Given the description of an element on the screen output the (x, y) to click on. 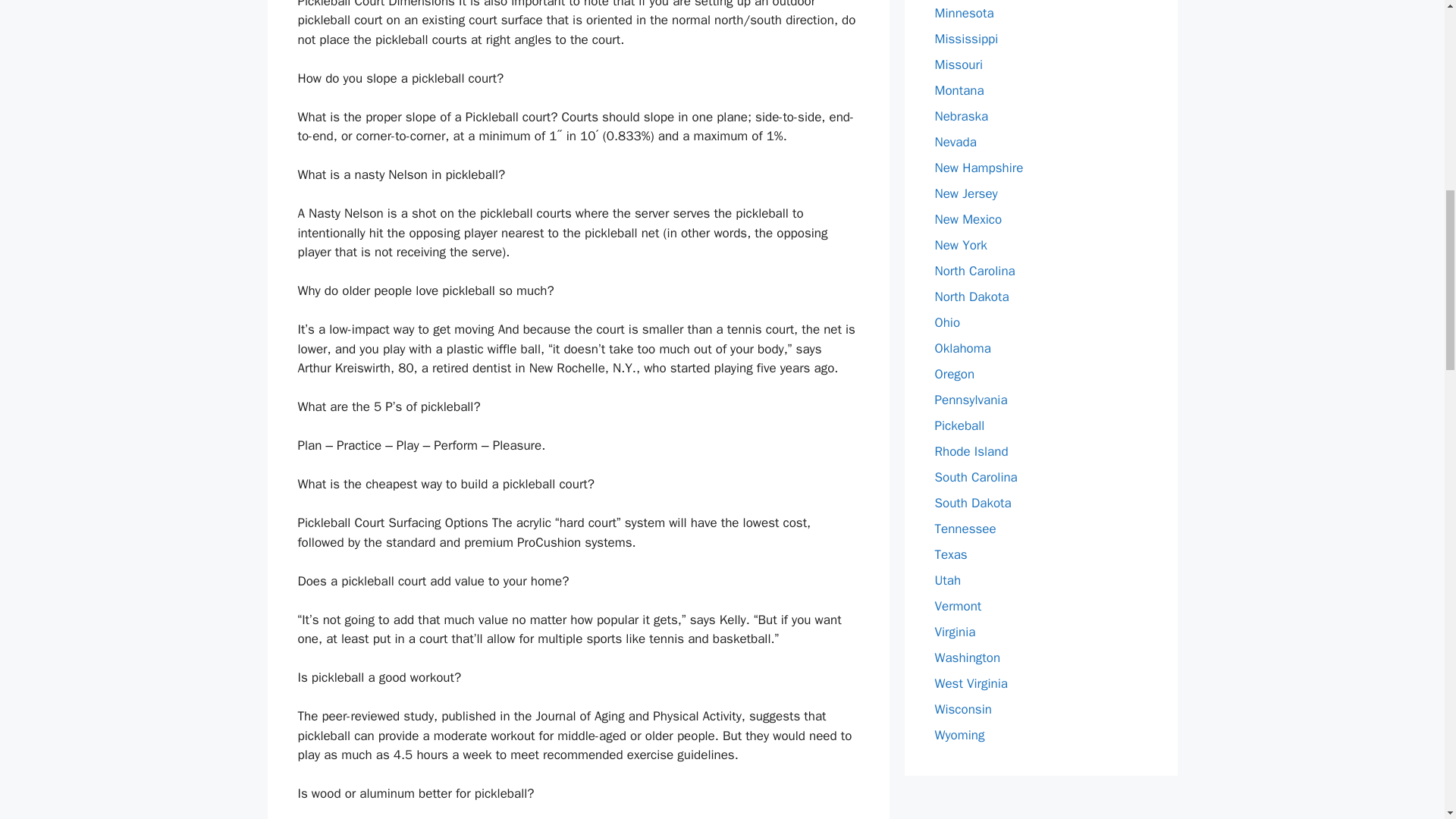
Mississippi (965, 38)
Minnesota (963, 12)
